Given the description of an element on the screen output the (x, y) to click on. 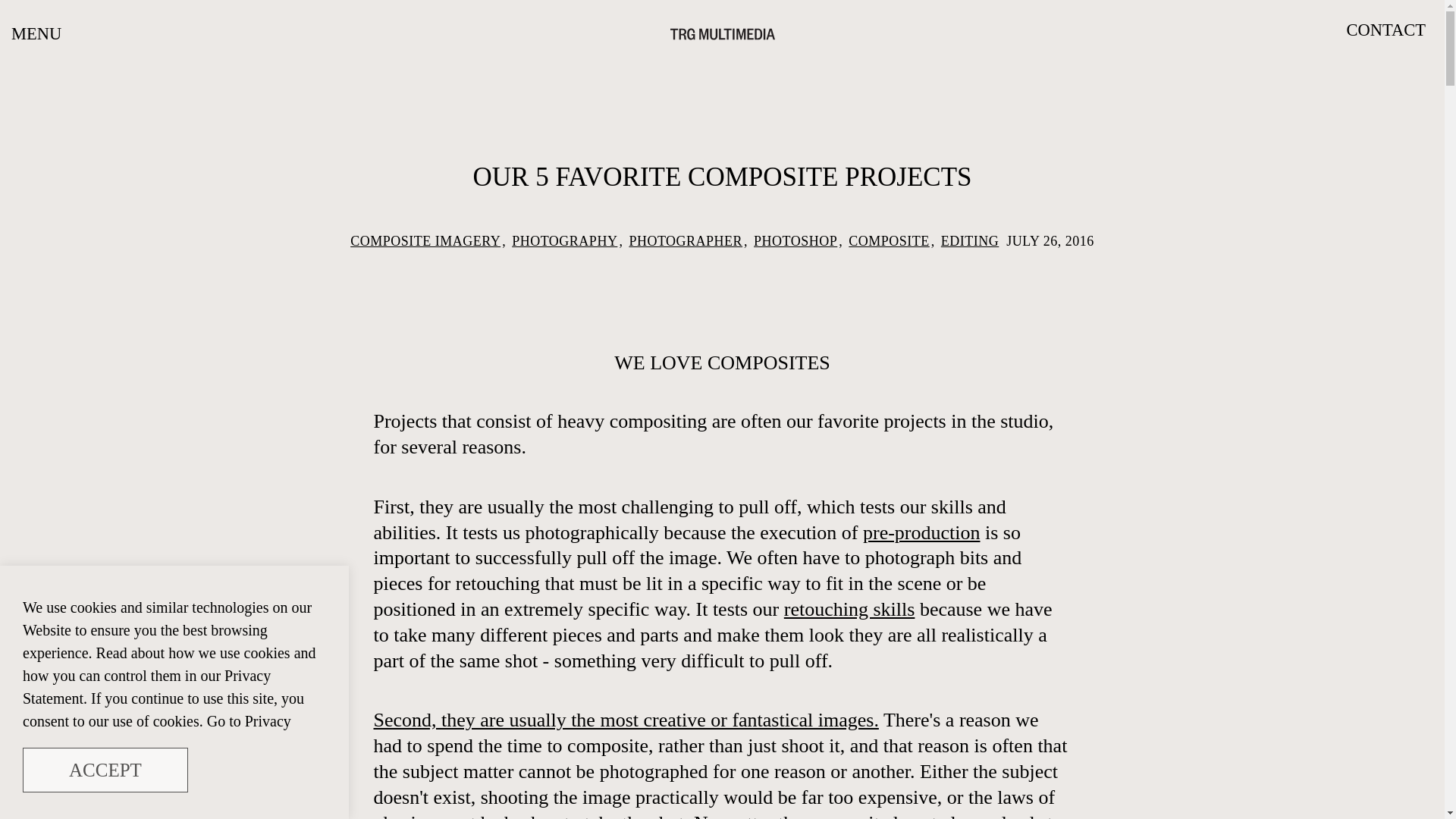
COMPOSITE IMAGERY (425, 240)
Retouching and Composite Imagery (849, 608)
PHOTOSHOP (795, 240)
TRG MultiMedia (721, 33)
PHOTOGRAPHER (685, 240)
Portfolio Photography (624, 720)
CONTACT (1391, 33)
pre-production (921, 532)
COMPOSITE IMAGERY (425, 240)
EDITING (969, 240)
EDITING (969, 240)
retouching skills (849, 608)
MENU (34, 33)
PHOTOGRAPHY (564, 240)
